Given the description of an element on the screen output the (x, y) to click on. 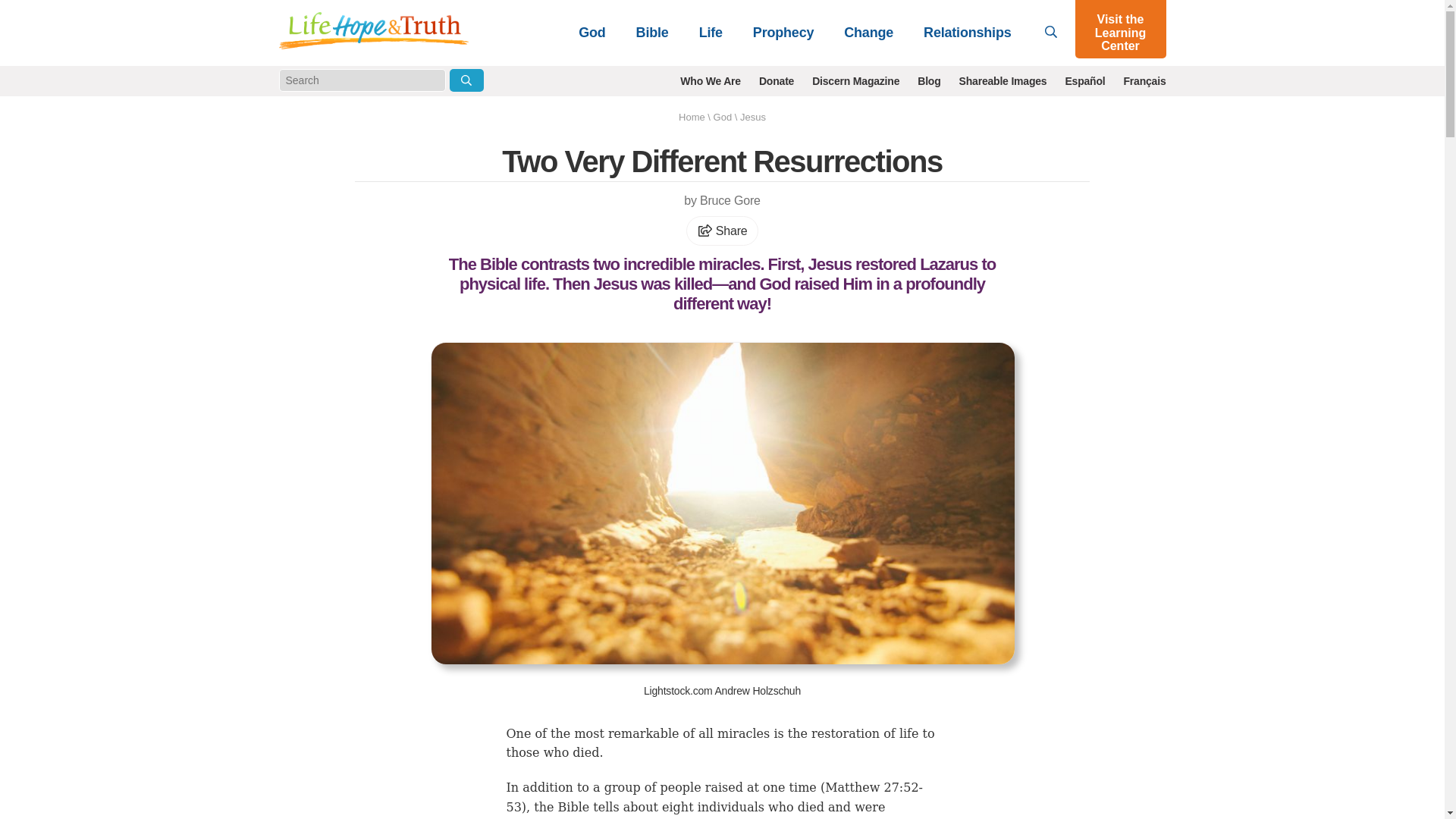
Bible (652, 32)
Life (711, 32)
God (591, 32)
